Given the description of an element on the screen output the (x, y) to click on. 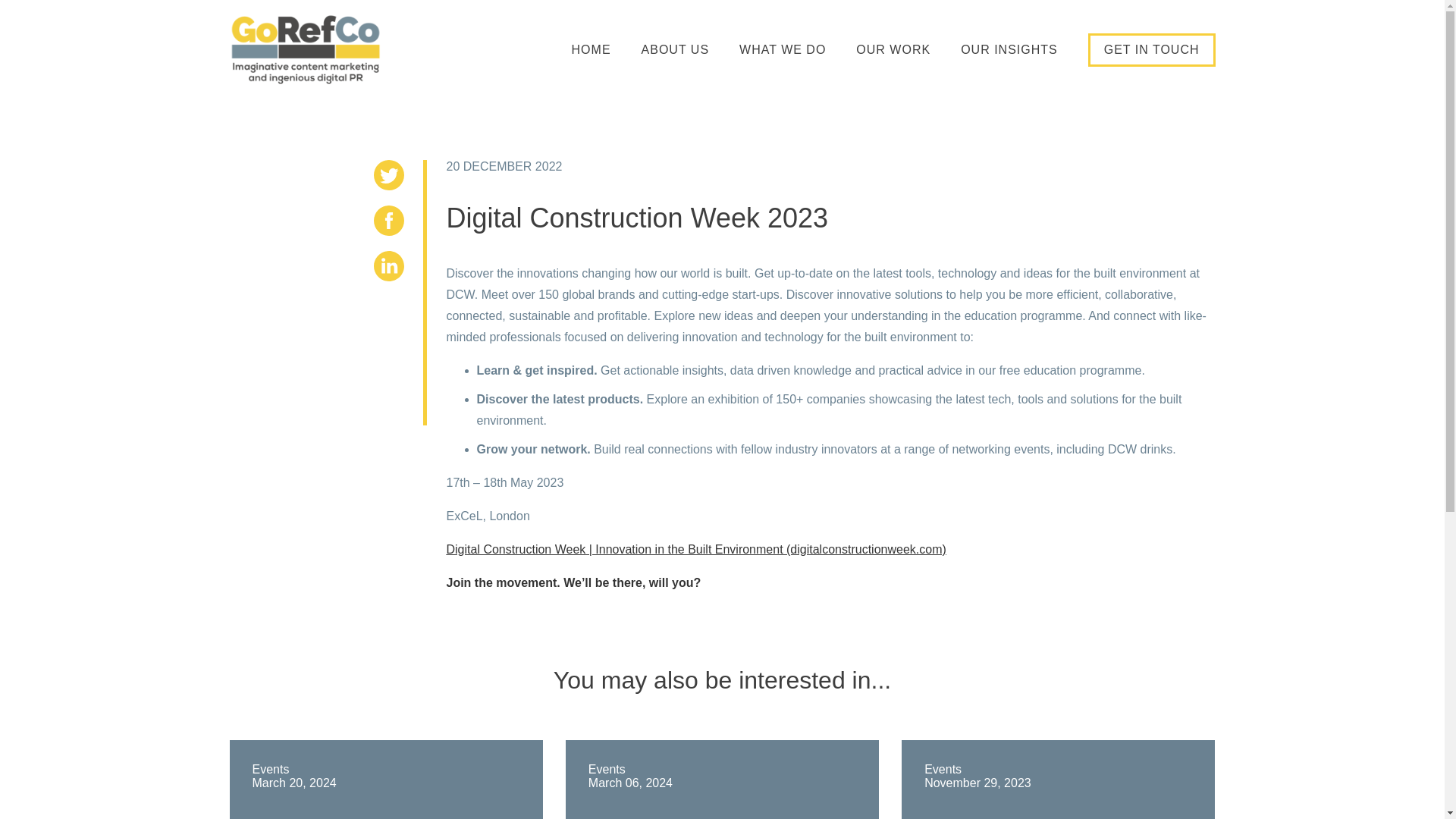
HOME (591, 49)
OUR INSIGHTS (1009, 49)
ABOUT US (676, 49)
GET IN TOUCH (1151, 49)
OUR WORK (893, 49)
WHAT WE DO (782, 49)
